Given the description of an element on the screen output the (x, y) to click on. 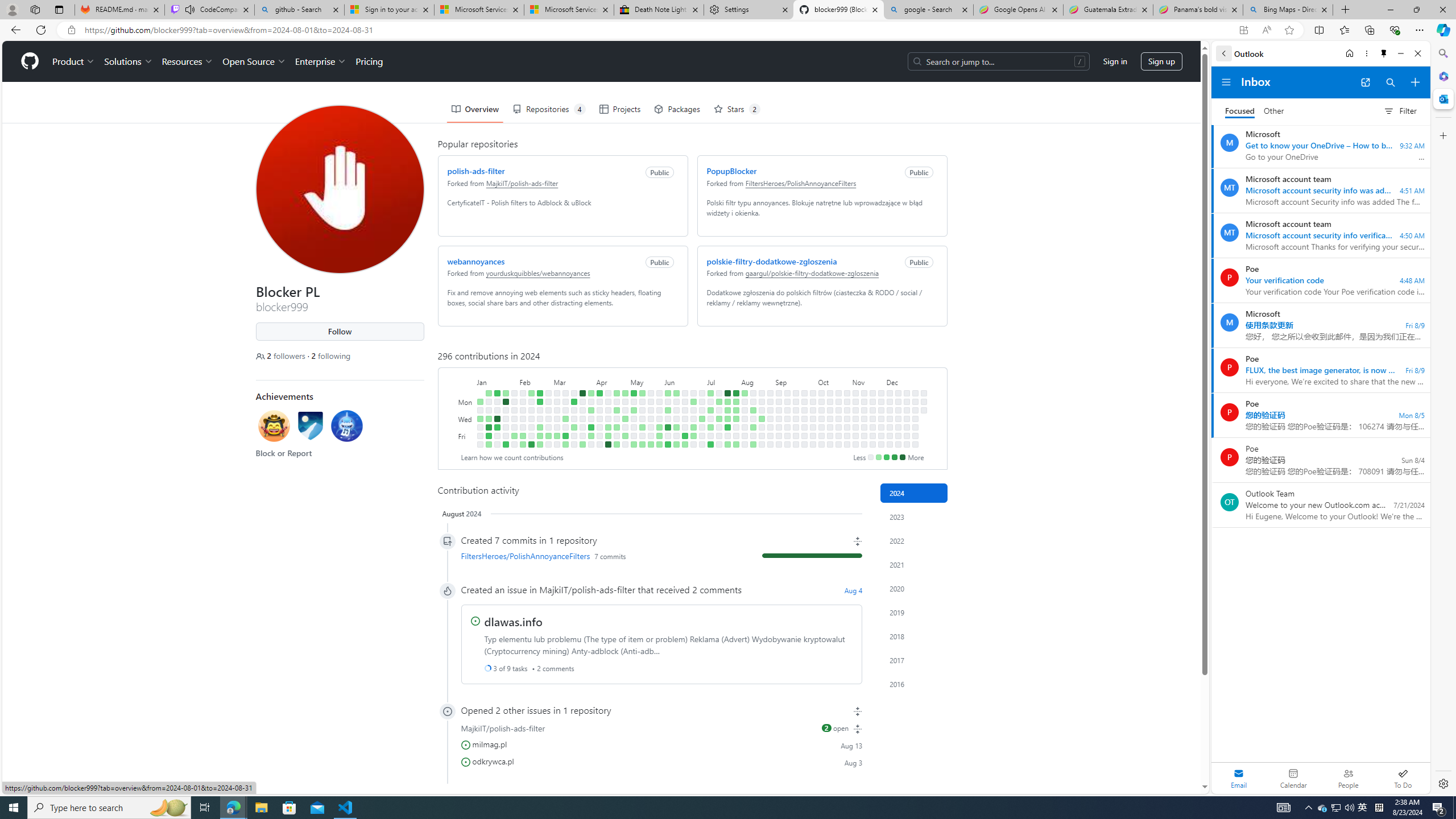
Open Source (254, 60)
No contributions on November 1st. (846, 435)
No contributions on May 26th. (658, 392)
December (906, 380)
2 following (330, 355)
Pricing (368, 60)
No contributions on October 25th. (837, 435)
No contributions on December 31st. (923, 410)
dlawas.info (513, 620)
No contributions on August 6th. (744, 410)
Contribution activity in 2024 (913, 492)
10 contributions on March 24th. (582, 392)
Contribution activity in 2016 (913, 683)
No contributions on August 5th. (744, 401)
Focused Inbox, toggle to go to Other Inbox (1254, 110)
